Given the description of an element on the screen output the (x, y) to click on. 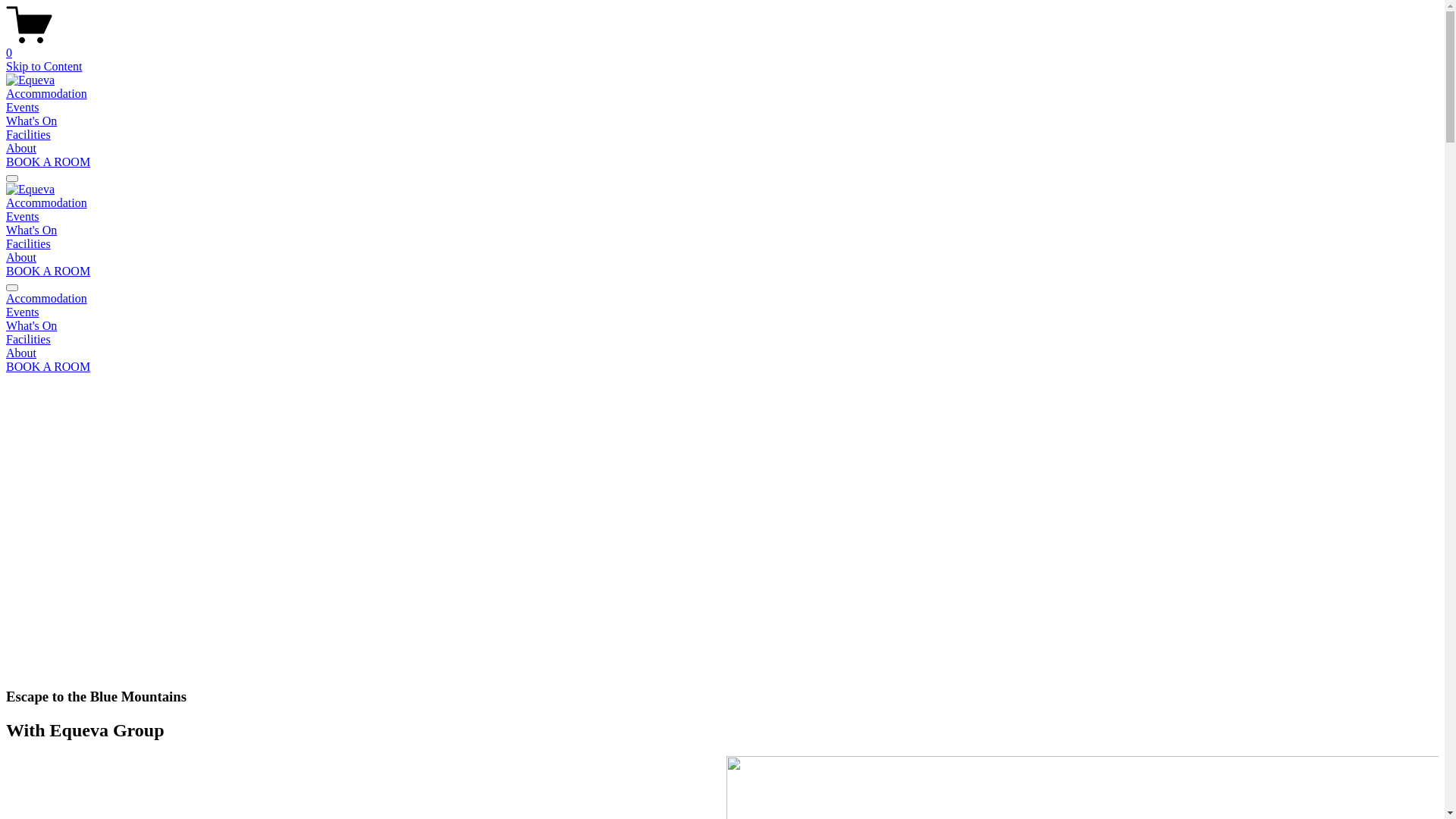
Accommodation Element type: text (46, 202)
Skip to Content Element type: text (43, 65)
What's On Element type: text (31, 120)
Accommodation Element type: text (46, 93)
What's On Element type: text (722, 325)
Accommodation Element type: text (722, 298)
0 Element type: text (722, 45)
Events Element type: text (22, 216)
Events Element type: text (722, 312)
Facilities Element type: text (28, 243)
BOOK A ROOM Element type: text (48, 270)
Facilities Element type: text (722, 339)
Facilities Element type: text (28, 134)
About Element type: text (21, 147)
What's On Element type: text (31, 229)
BOOK A ROOM Element type: text (48, 366)
BOOK A ROOM Element type: text (48, 161)
About Element type: text (21, 257)
Events Element type: text (22, 106)
About Element type: text (722, 353)
